Given the description of an element on the screen output the (x, y) to click on. 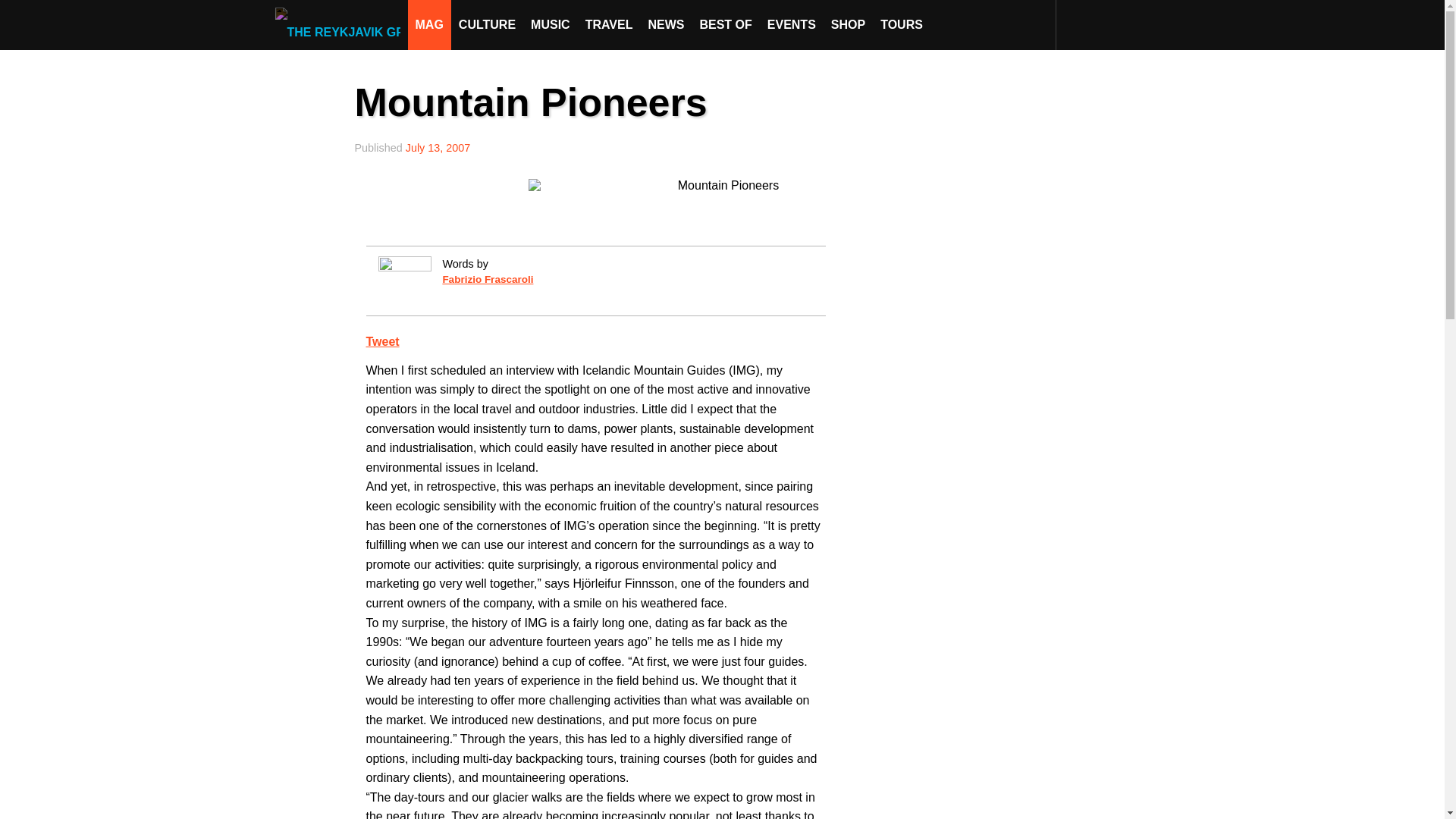
SHOP (848, 24)
Tweet (381, 341)
Fabrizio Frascaroli (487, 279)
CULTURE (486, 24)
MUSIC (550, 24)
BEST OF (724, 24)
EVENTS (792, 24)
The Reykjavik Grapevine (341, 24)
NEWS (665, 24)
TRAVEL (609, 24)
TOURS (901, 24)
Posts by Fabrizio Frascaroli (487, 279)
